Given the description of an element on the screen output the (x, y) to click on. 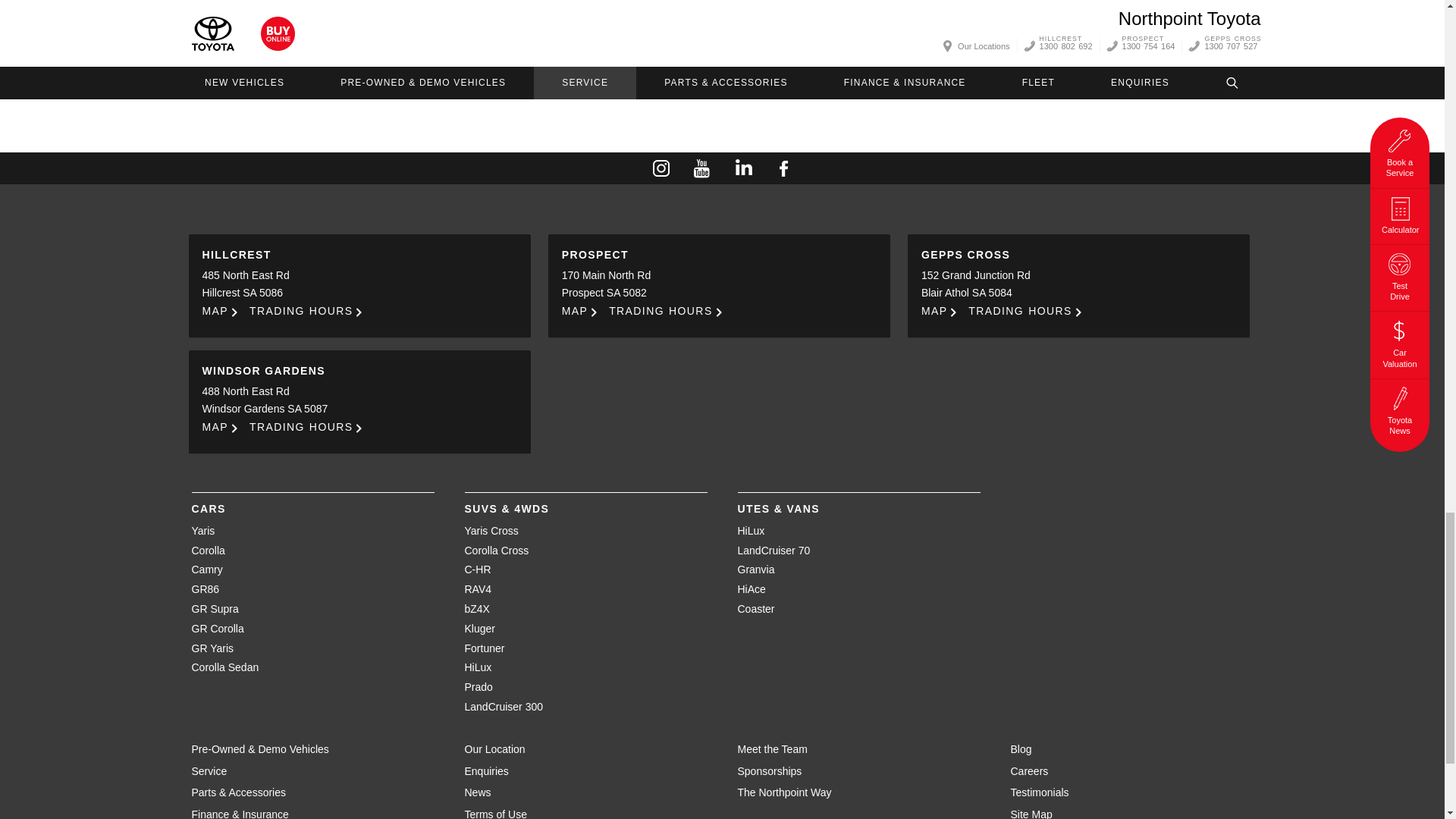
Follow Us on LinkedIn (742, 168)
Follow Us on Instagram (661, 168)
Become a Friend on Facebook (783, 168)
Visit our YouTube Channel (701, 168)
